Given the description of an element on the screen output the (x, y) to click on. 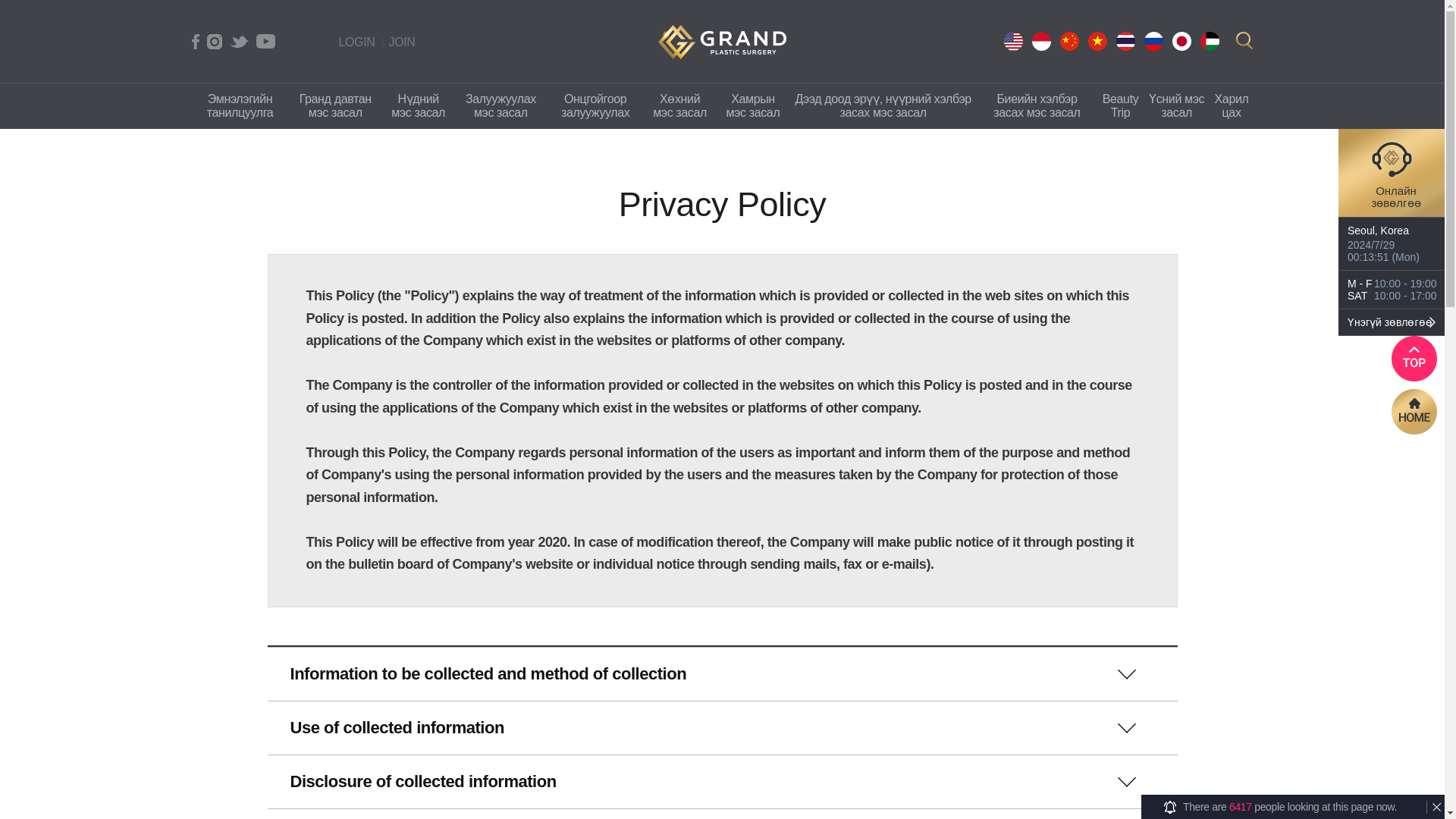
Thailand (1125, 40)
Japan (1181, 40)
LOGIN (356, 42)
Indonesia (1039, 40)
Arab (1208, 40)
Russia (1151, 40)
Vietnam (1096, 40)
Search (1244, 40)
JOIN (401, 42)
English (1013, 40)
China (1068, 40)
